Given the description of an element on the screen output the (x, y) to click on. 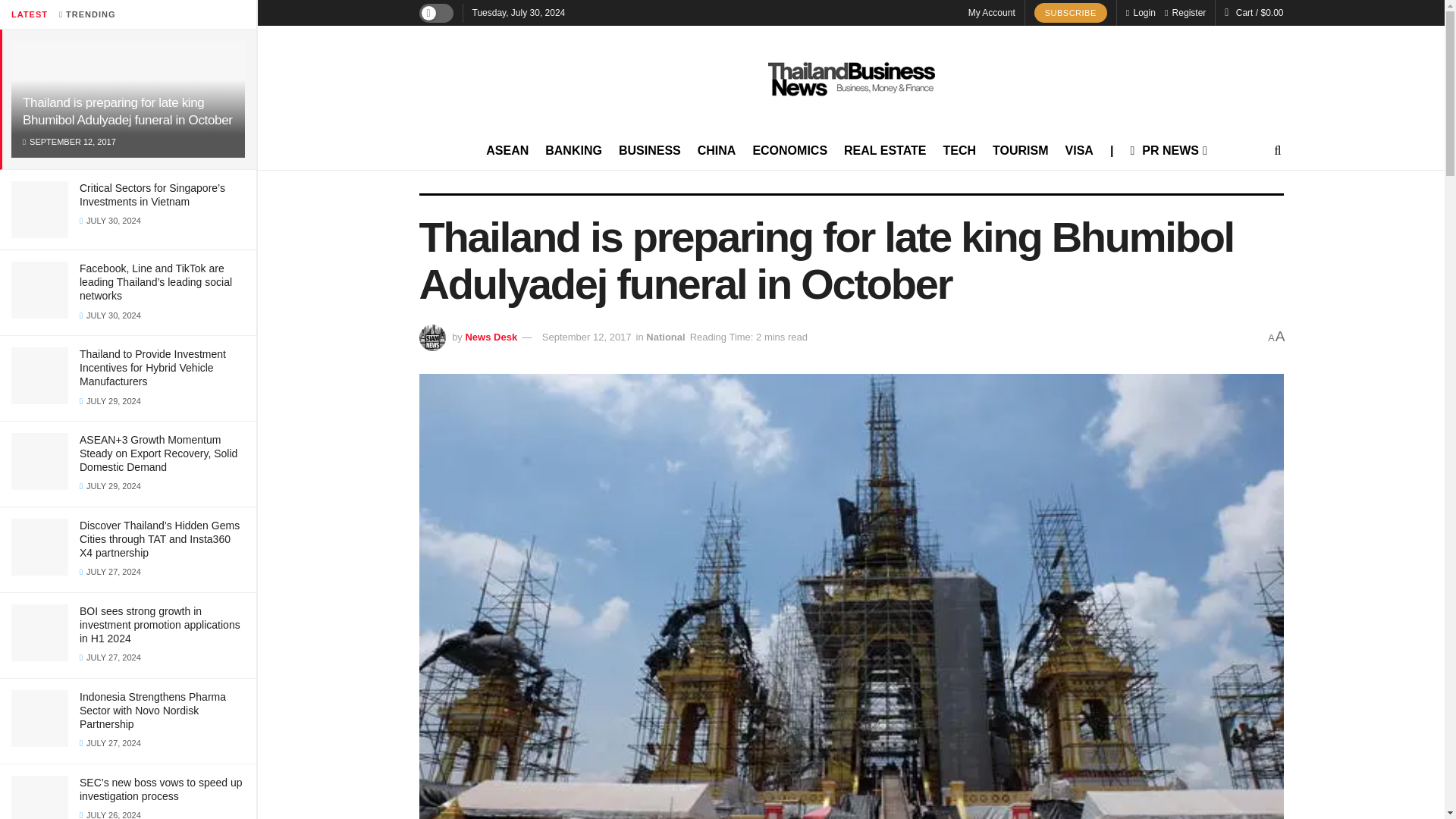
REAL ESTATE (885, 150)
ECONOMICS (789, 150)
CHINA (716, 150)
TECH (959, 150)
VISA (1079, 150)
My Account (991, 12)
ASEAN (507, 150)
TOURISM (1020, 150)
View your shopping cart (1260, 12)
Login (1140, 12)
SUBSCRIBE (1069, 12)
